Given the description of an element on the screen output the (x, y) to click on. 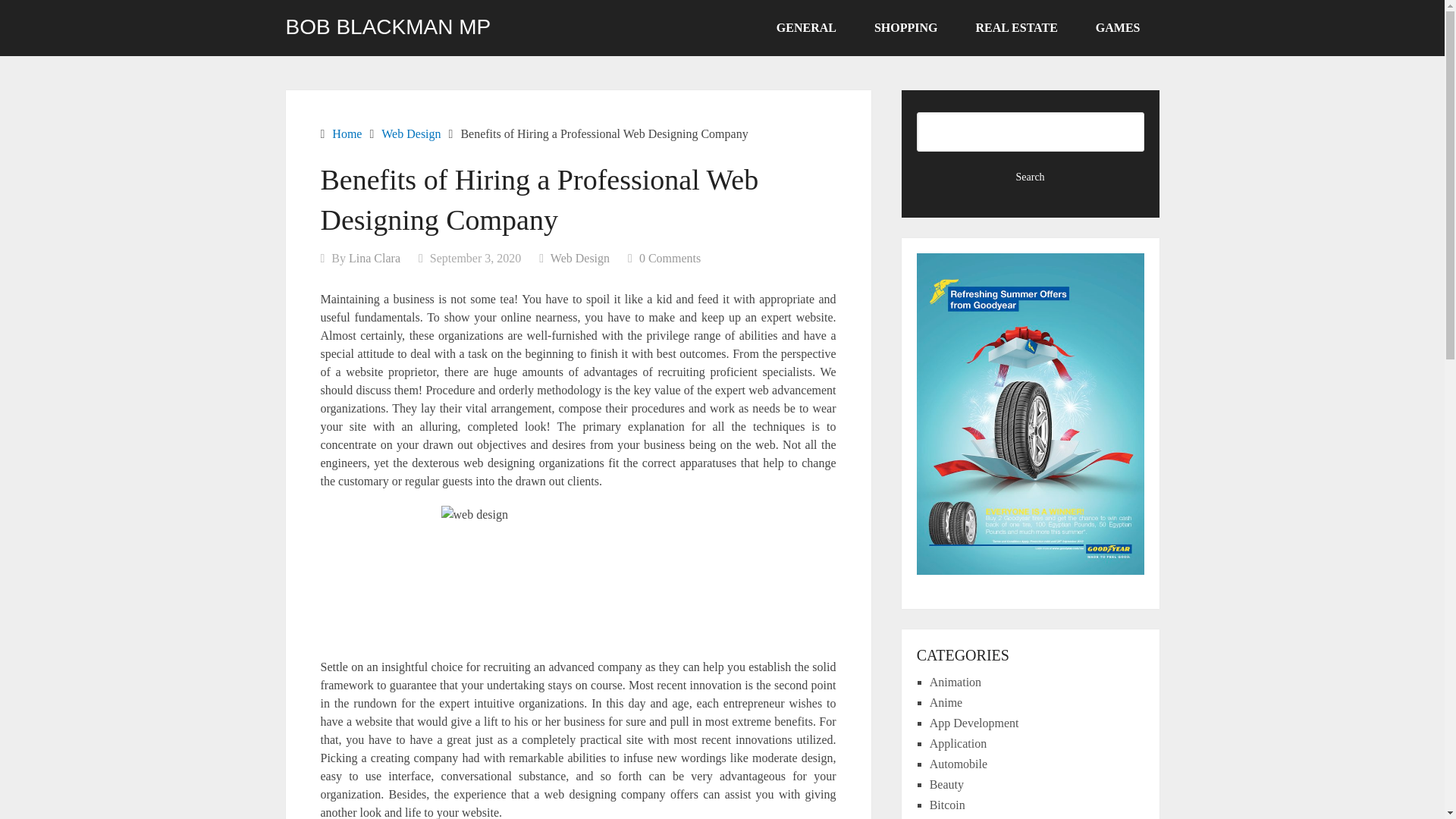
Lina Clara (374, 257)
App Development (974, 722)
Application (958, 743)
Home (346, 133)
Search (1030, 176)
REAL ESTATE (1015, 28)
Web Design (580, 257)
Search (1030, 176)
0 Comments (669, 257)
Automobile (958, 763)
SHOPPING (906, 28)
Bitcoin (947, 804)
Anime (946, 702)
BOB BLACKMAN MP (387, 26)
Animation (955, 681)
